Given the description of an element on the screen output the (x, y) to click on. 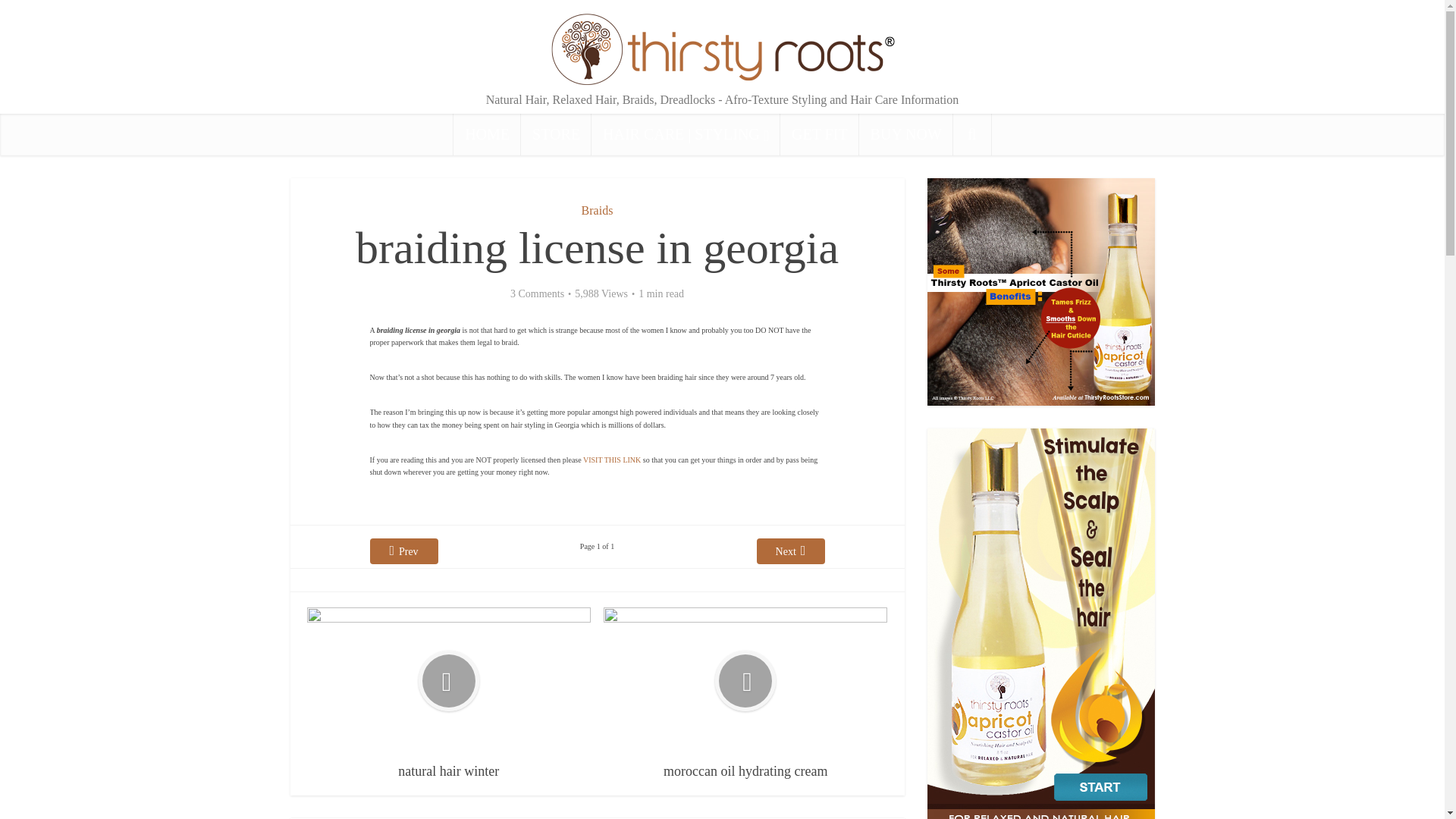
3 Comments (537, 294)
natural hair winter (449, 693)
Braids (596, 210)
HOME (486, 134)
BUY NOW (906, 134)
Prev (403, 551)
GET FIT (819, 134)
Next (791, 551)
VISIT THIS LINK (611, 459)
STORE (556, 134)
